Given the description of an element on the screen output the (x, y) to click on. 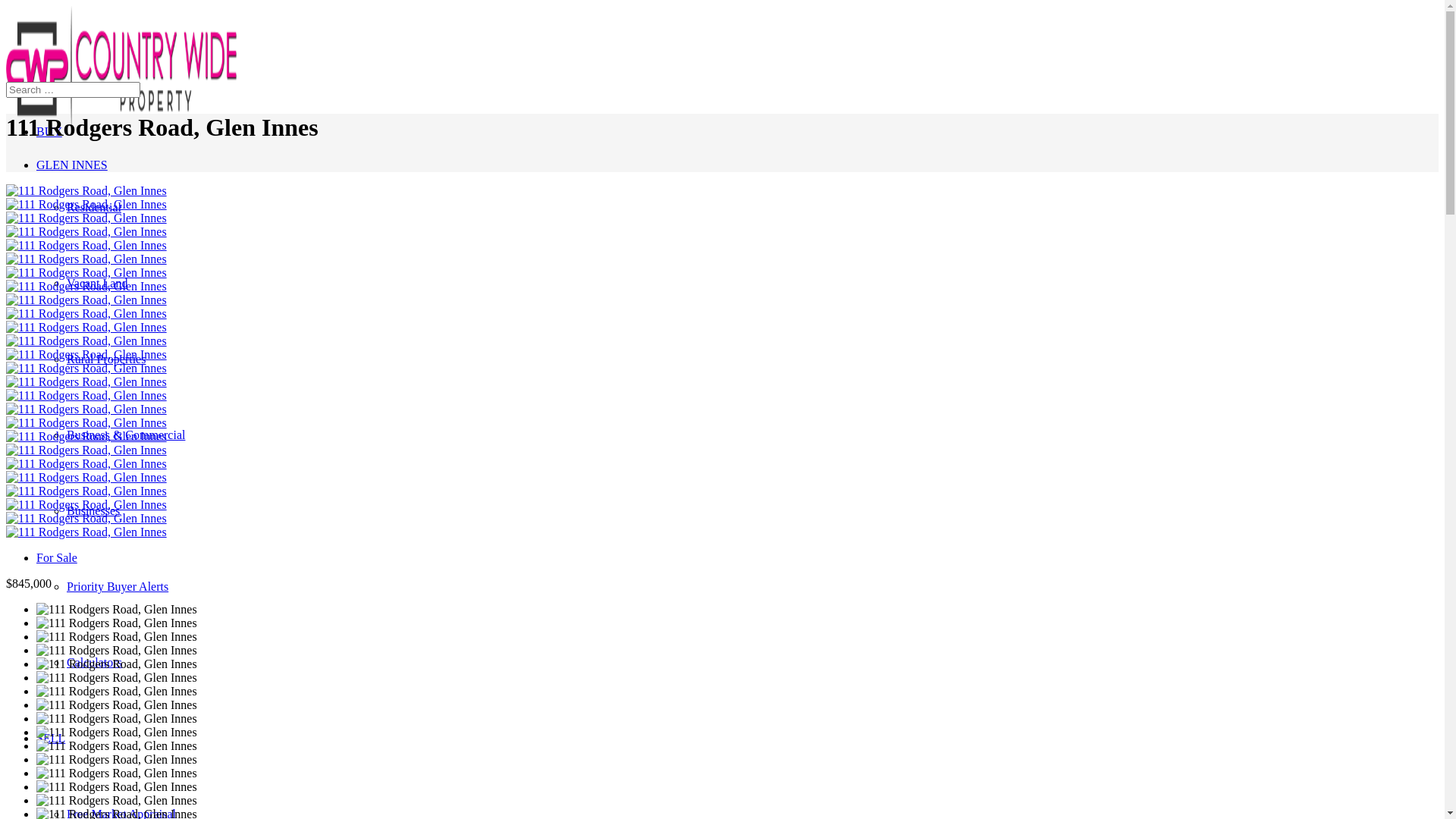
111 Rodgers Road, Glen Innes Element type: hover (86, 517)
111 Rodgers Road, Glen Innes Element type: hover (86, 531)
111 Rodgers Road, Glen Innes Element type: hover (86, 367)
111 Rodgers Road, Glen Innes Element type: hover (86, 476)
111 Rodgers Road, Glen Innes Element type: hover (86, 203)
Business & Commercial Element type: text (125, 434)
Rural Properties Element type: text (105, 358)
Calculators Element type: text (94, 661)
111 Rodgers Road, Glen Innes Element type: hover (86, 449)
GLEN INNES Element type: text (71, 164)
111 Rodgers Road, Glen Innes Element type: hover (86, 231)
111 Rodgers Road, Glen Innes Element type: hover (86, 504)
111 Rodgers Road, Glen Innes Element type: hover (86, 313)
111 Rodgers Road, Glen Innes Element type: hover (86, 422)
111 Rodgers Road, Glen Innes Element type: hover (86, 285)
111 Rodgers Road, Glen Innes Element type: hover (86, 490)
Vacant Land Element type: text (96, 282)
Priority Buyer Alerts Element type: text (117, 586)
111 Rodgers Road, Glen Innes Element type: hover (86, 272)
111 Rodgers Road, Glen Innes Element type: hover (86, 463)
111 Rodgers Road, Glen Innes Element type: hover (86, 340)
Businesses Element type: text (92, 510)
For Sale Element type: text (56, 557)
111 Rodgers Road, Glen Innes Element type: hover (86, 217)
BUY Element type: text (49, 131)
Residential Element type: text (93, 206)
111 Rodgers Road, Glen Innes Element type: hover (86, 395)
111 Rodgers Road, Glen Innes Element type: hover (86, 354)
111 Rodgers Road, Glen Innes Element type: hover (86, 326)
111 Rodgers Road, Glen Innes Element type: hover (86, 244)
111 Rodgers Road, Glen Innes Element type: hover (86, 190)
111 Rodgers Road, Glen Innes Element type: hover (86, 258)
111 Rodgers Road, Glen Innes Element type: hover (86, 381)
SELL Element type: text (50, 737)
111 Rodgers Road, Glen Innes Element type: hover (86, 408)
111 Rodgers Road, Glen Innes Element type: hover (86, 299)
111 Rodgers Road, Glen Innes Element type: hover (86, 435)
